Given the description of an element on the screen output the (x, y) to click on. 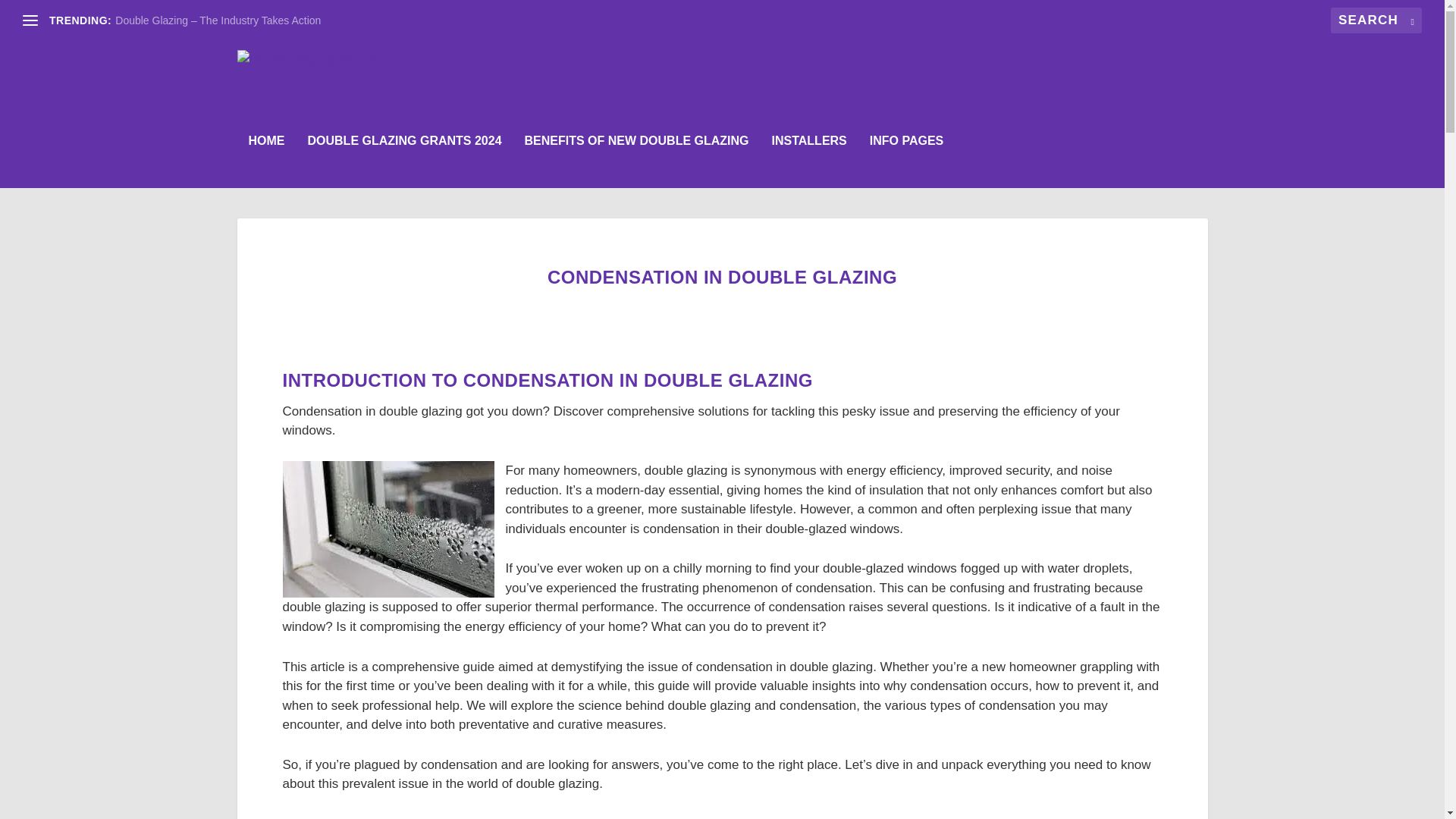
BENEFITS OF NEW DOUBLE GLAZING (636, 161)
DOUBLE GLAZING GRANTS 2024 (404, 161)
HOME (266, 161)
INFO PAGES (906, 161)
INSTALLERS (809, 161)
Search for: (1376, 20)
